Given the description of an element on the screen output the (x, y) to click on. 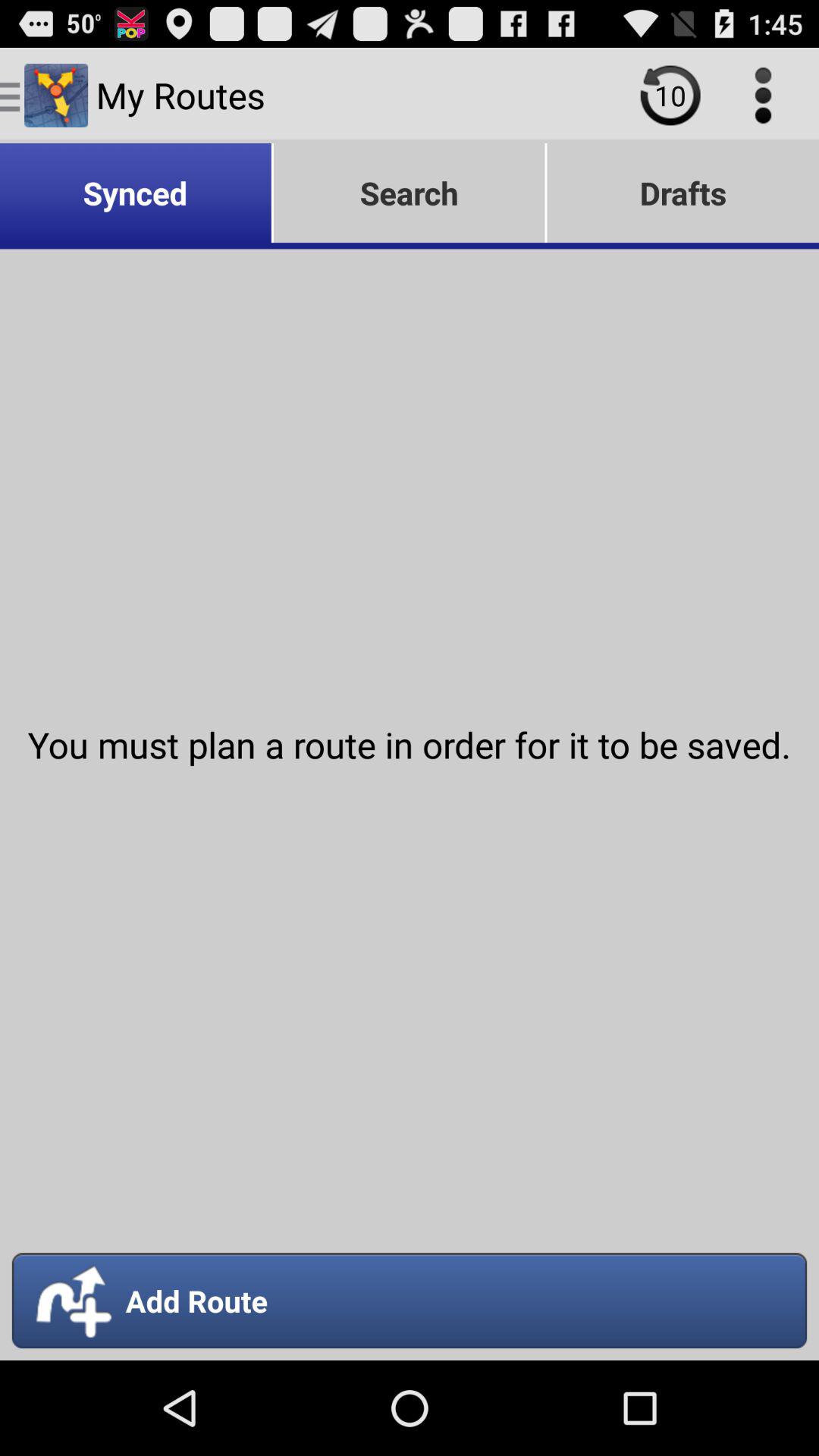
scroll until the 10 app (670, 95)
